Given the description of an element on the screen output the (x, y) to click on. 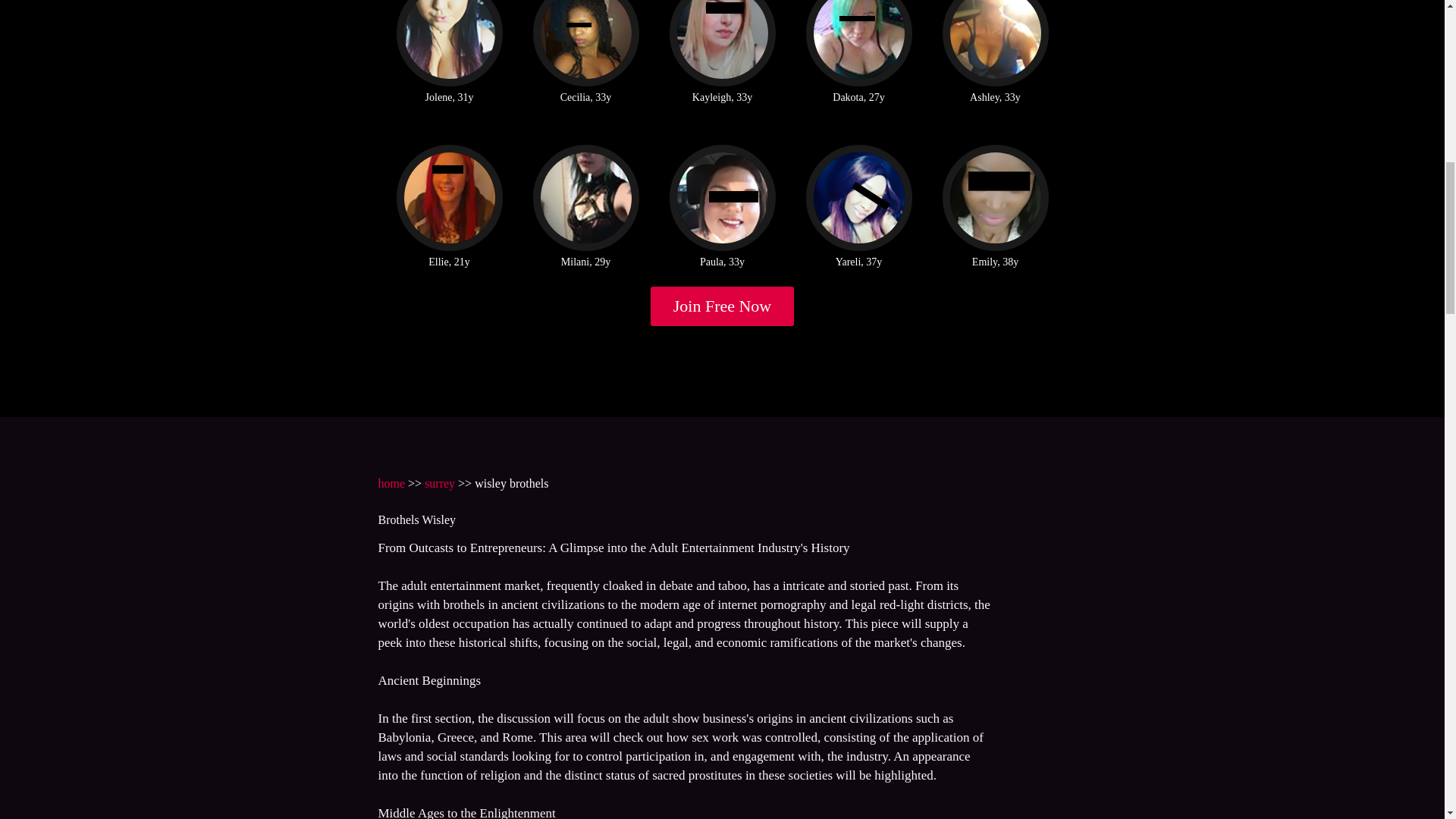
surrey (439, 482)
Join Free Now (722, 305)
home (390, 482)
Join (722, 305)
